Given the description of an element on the screen output the (x, y) to click on. 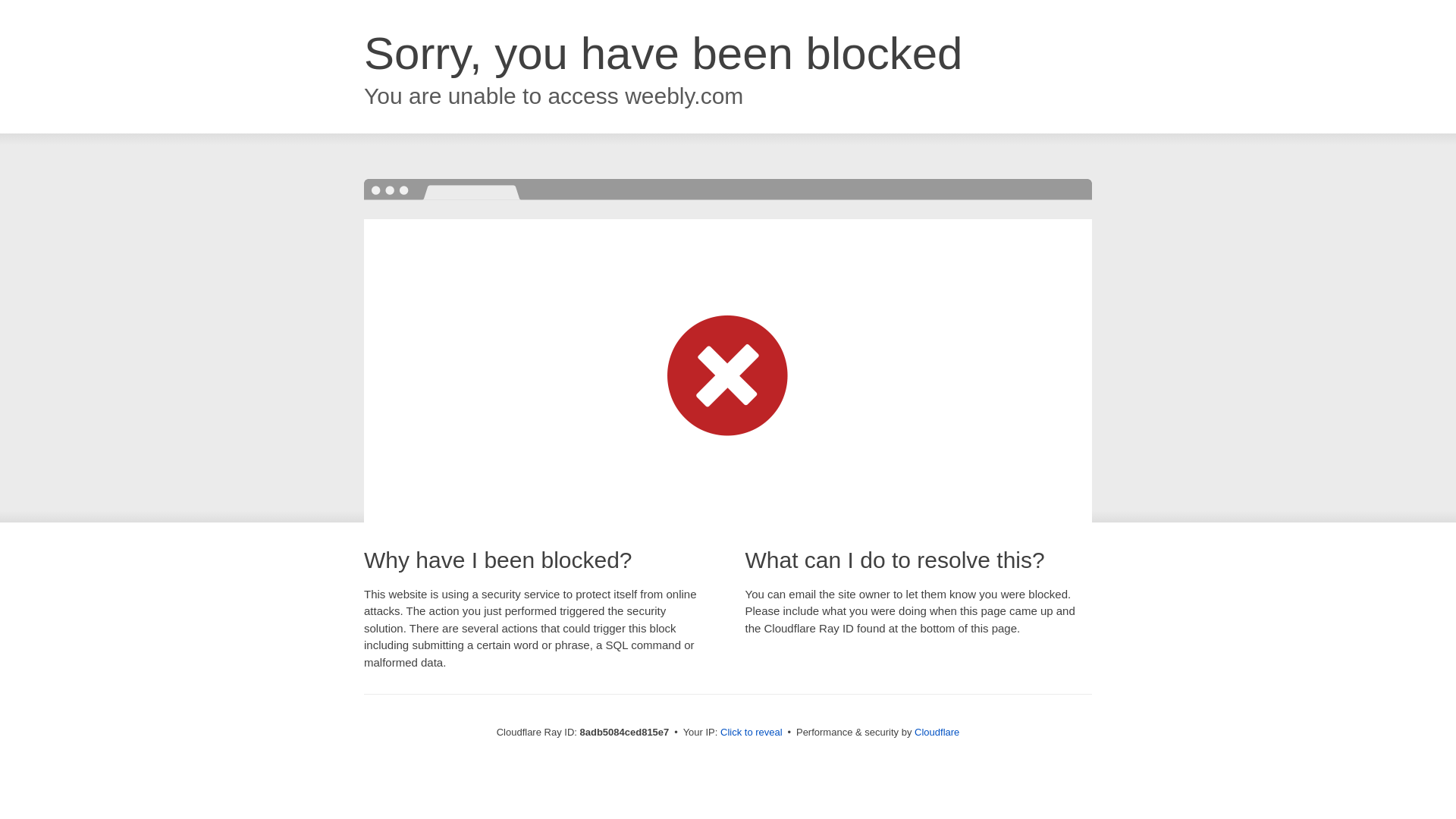
Click to reveal (751, 732)
Cloudflare (936, 731)
